Given the description of an element on the screen output the (x, y) to click on. 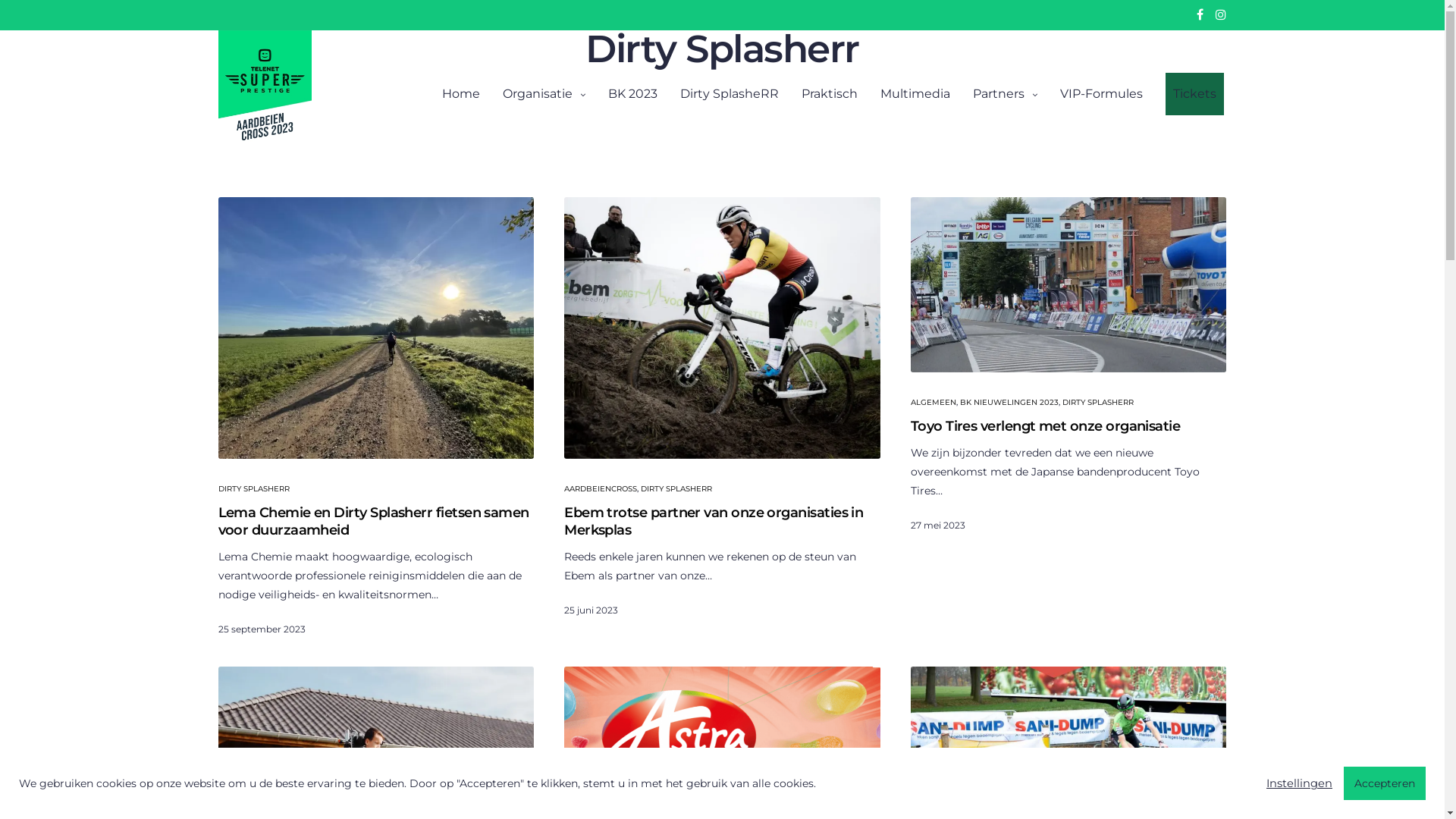
DIRTY SPLASHERR Element type: text (676, 488)
VIP-Formules Element type: text (1101, 93)
Ebem trotse partner van onze organisaties in Merksplas Element type: text (722, 521)
Praktisch Element type: text (828, 93)
DIRTY SPLASHERR Element type: text (1097, 402)
ALGEMEEN Element type: text (933, 402)
Ebem trotse partner van onze organisaties in Merksplas Element type: hover (722, 327)
Accepteren Element type: text (1384, 783)
Tickets Element type: text (1193, 93)
Toyo Tires verlengt met onze organisatie Element type: text (1068, 426)
AARDBEIENCROSS Element type: text (600, 488)
Partners Element type: text (1004, 93)
BK NIEUWELINGEN 2023 Element type: text (1009, 402)
BK 2023 Element type: text (632, 93)
Instellingen Element type: text (1299, 783)
Organisatie Element type: text (543, 93)
DIRTY SPLASHERR Element type: text (253, 488)
Toyo Tires verlengt met onze organisatie Element type: hover (1068, 285)
Dirty SplasheRR Element type: text (728, 93)
Multimedia Element type: text (914, 93)
Home Element type: text (460, 93)
Cyclocross Merksplas Element type: hover (265, 90)
